Given the description of an element on the screen output the (x, y) to click on. 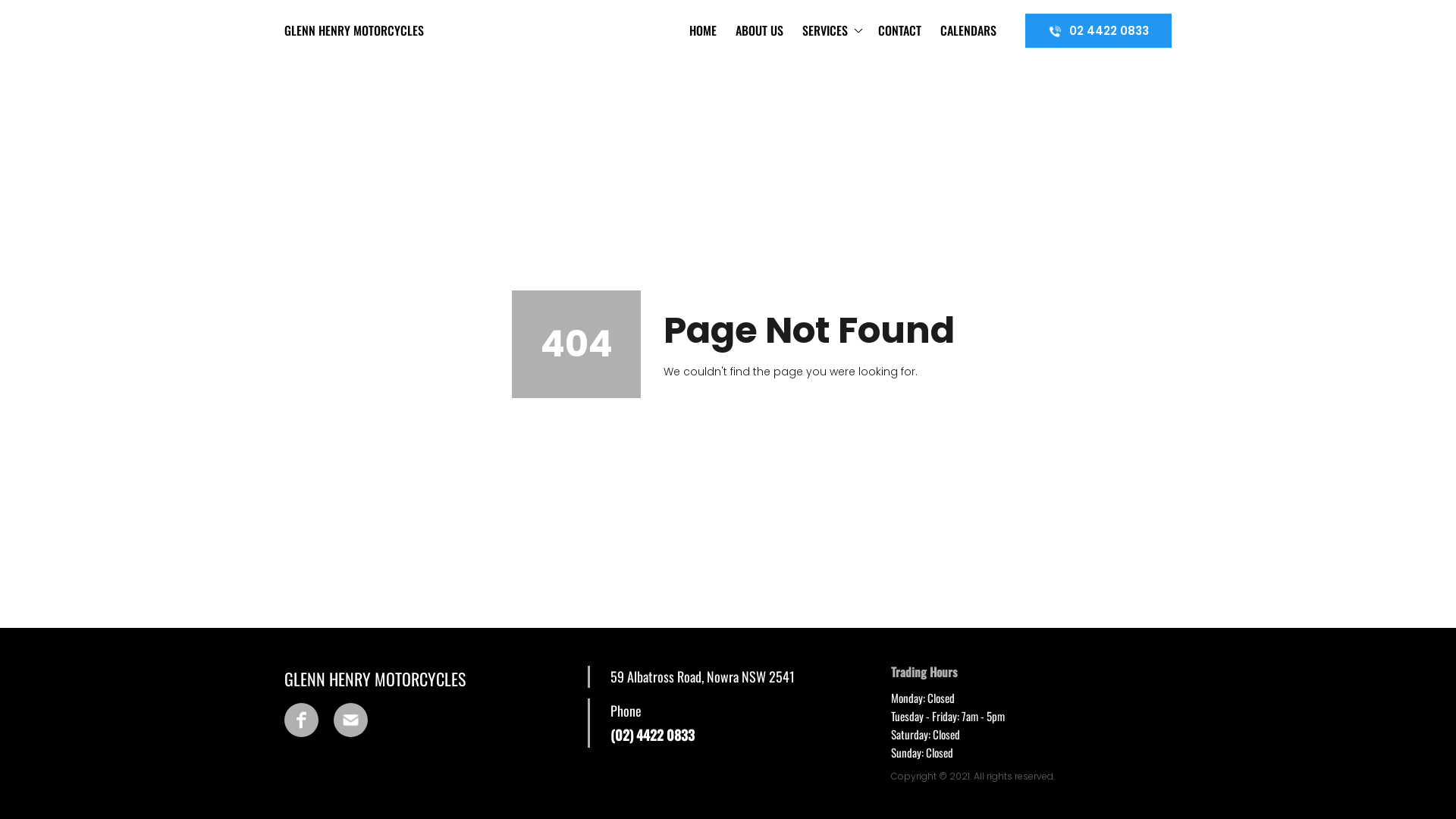
HOME Element type: text (703, 30)
(02) 4422 0833 Element type: text (652, 734)
CONTACT Element type: text (899, 30)
02 4422 0833 Element type: text (1098, 30)
CALENDARS Element type: text (968, 30)
ABOUT US Element type: text (759, 30)
GLENN HENRY MOTORCYCLES Element type: text (378, 30)
SERVICES Element type: text (831, 30)
